Given the description of an element on the screen output the (x, y) to click on. 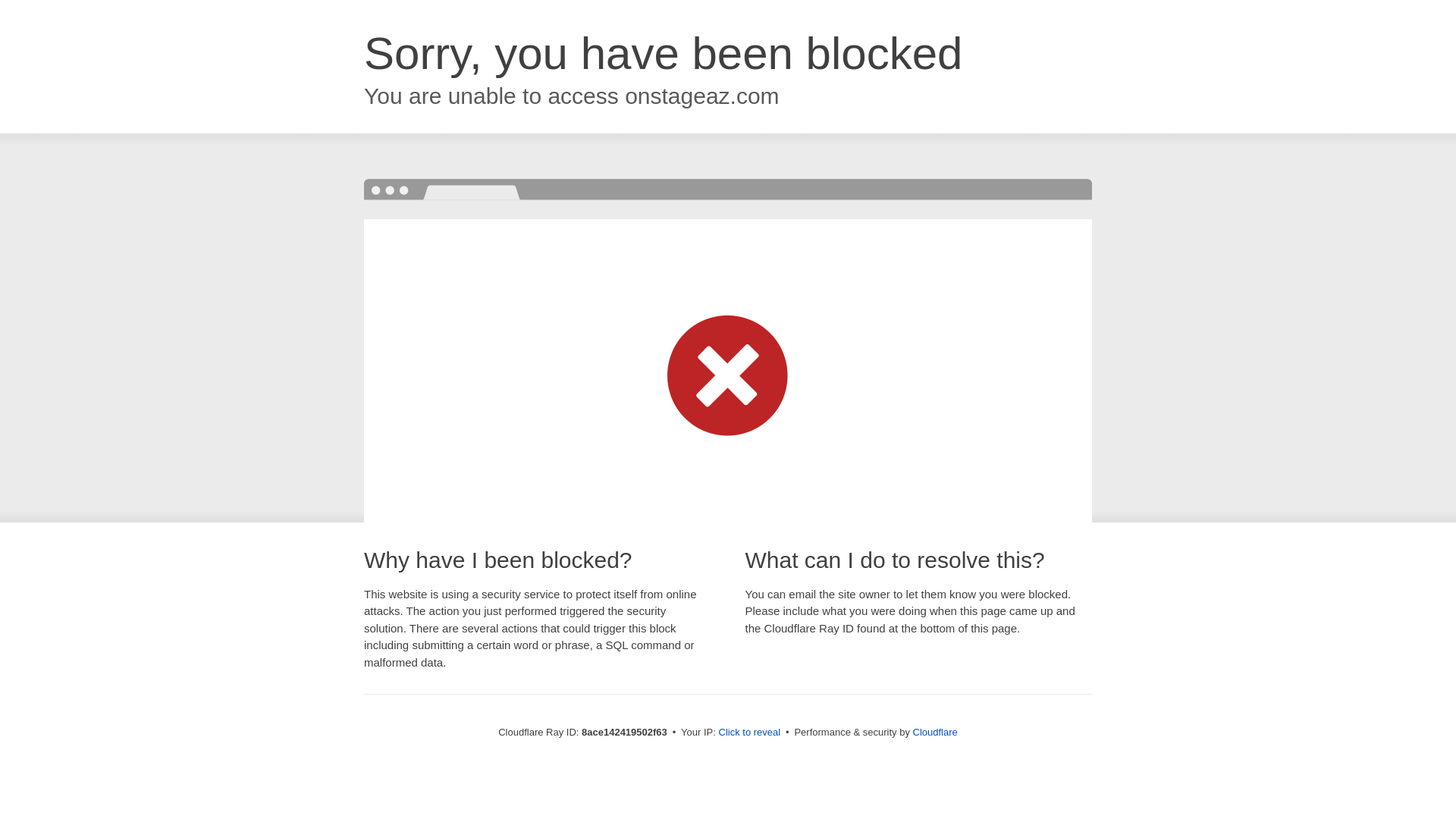
Cloudflare (935, 731)
Click to reveal (749, 732)
